Given the description of an element on the screen output the (x, y) to click on. 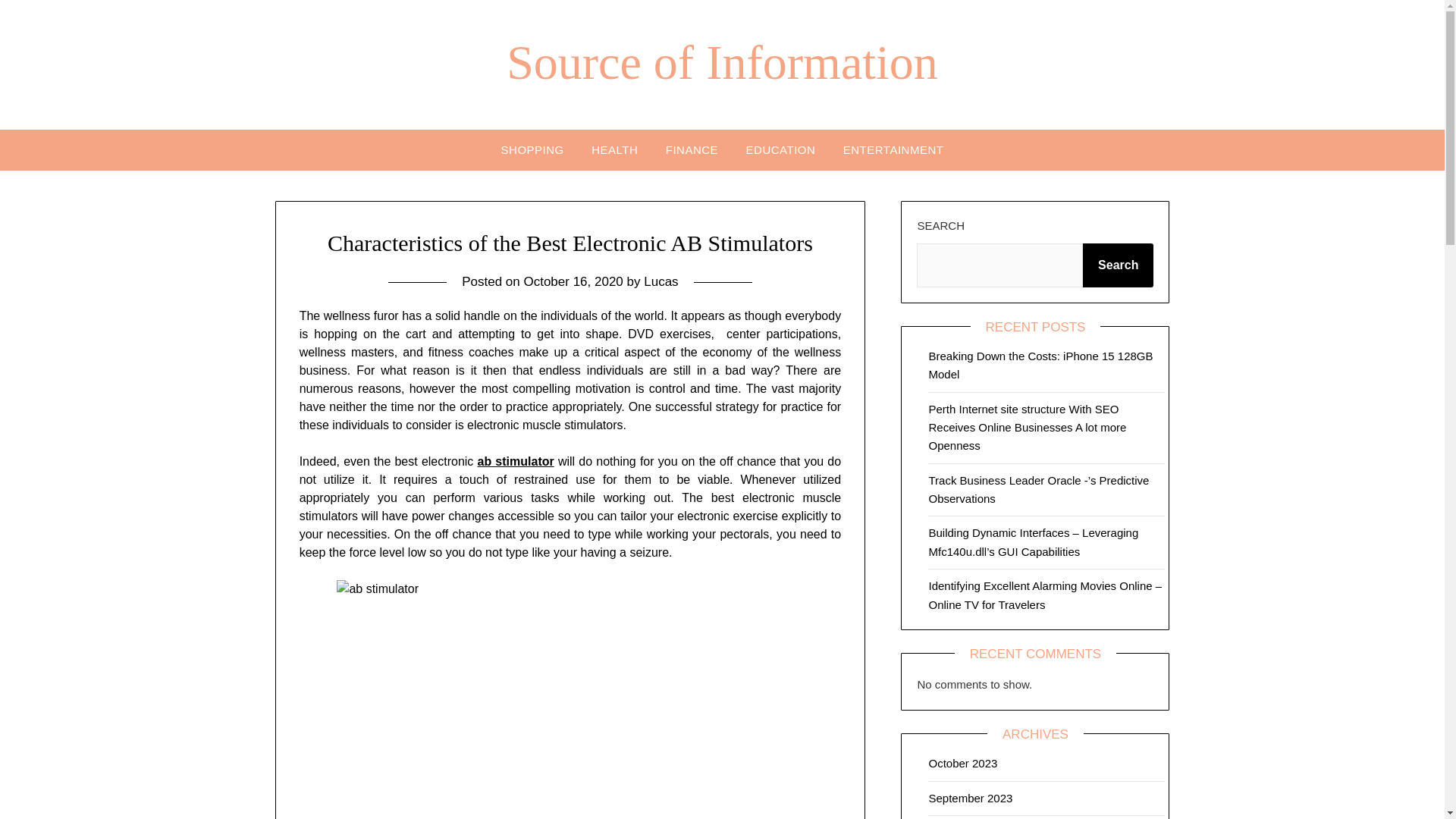
Breaking Down the Costs: iPhone 15 128GB Model (1040, 364)
SHOPPING (532, 149)
EDUCATION (780, 149)
Search (1118, 265)
October 16, 2020 (572, 281)
Source of Information (721, 62)
ENTERTAINMENT (893, 149)
Lucas (660, 281)
HEALTH (614, 149)
October 2023 (962, 762)
September 2023 (969, 797)
ab stimulator (515, 461)
FINANCE (691, 149)
